Given the description of an element on the screen output the (x, y) to click on. 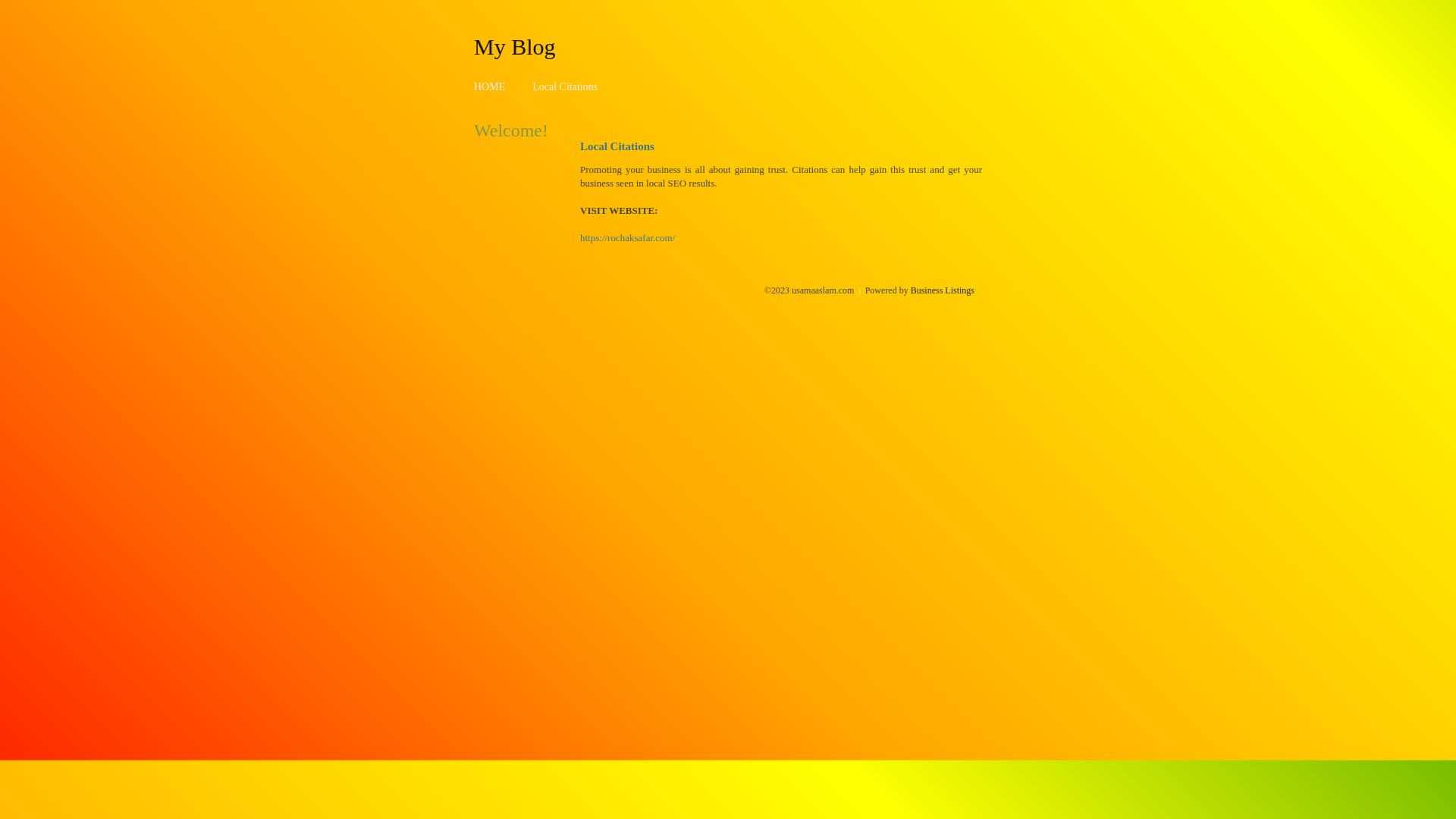
My Blog Element type: text (514, 46)
https://rochaksafar.com/ Element type: text (627, 237)
Local Citations Element type: text (564, 86)
HOME Element type: text (489, 86)
Business Listings Element type: text (942, 290)
